Given the description of an element on the screen output the (x, y) to click on. 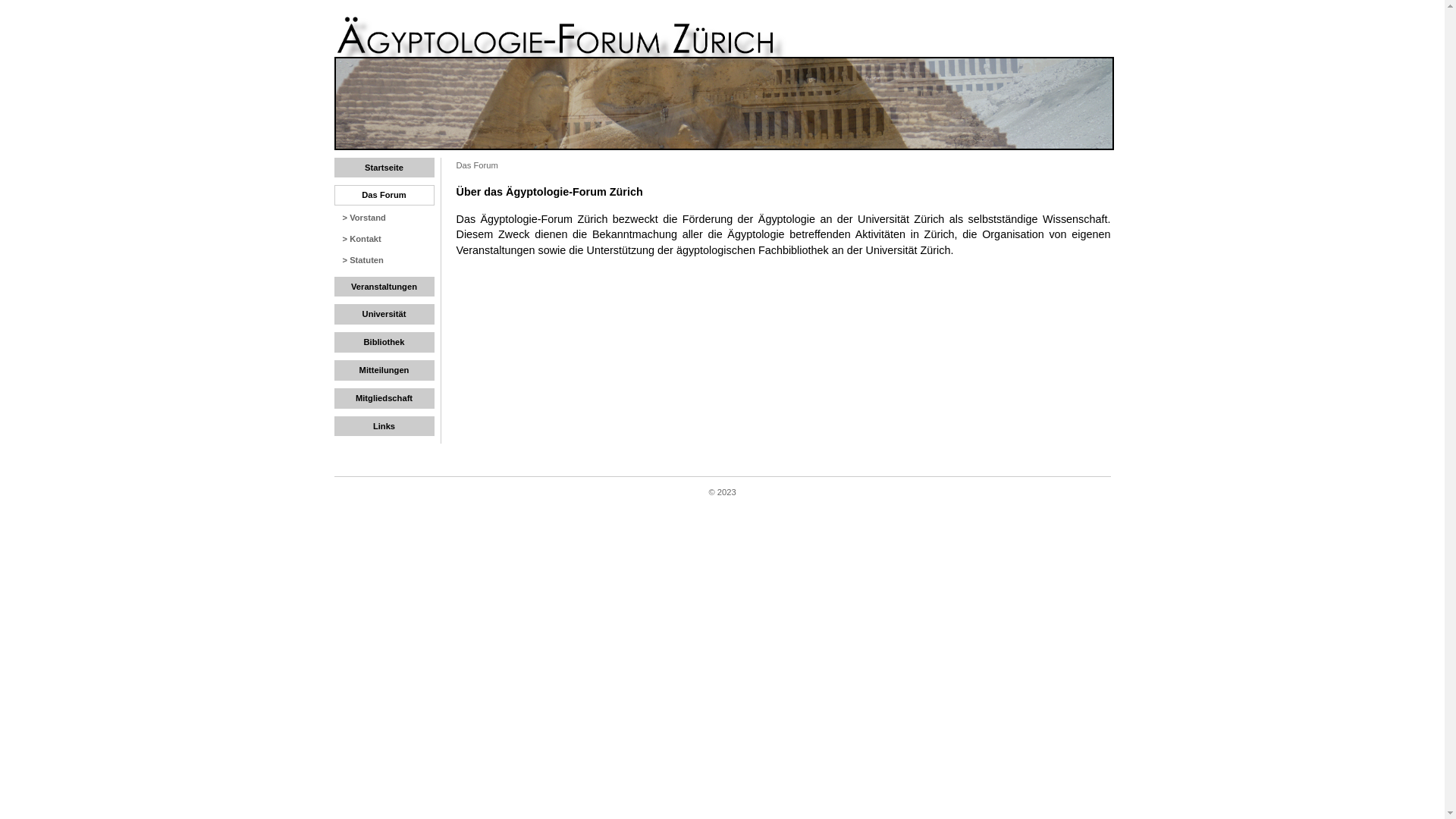
Das Forum Element type: text (477, 164)
Links Element type: text (382, 426)
Statuten Element type: text (366, 259)
Das Forum Element type: text (382, 195)
Startseite Element type: text (382, 167)
Bibliothek Element type: text (382, 342)
Vorstand Element type: text (367, 217)
Mitteilungen Element type: text (382, 370)
Veranstaltungen Element type: text (382, 286)
Kontakt Element type: text (365, 238)
Mitgliedschaft Element type: text (382, 398)
